Given the description of an element on the screen output the (x, y) to click on. 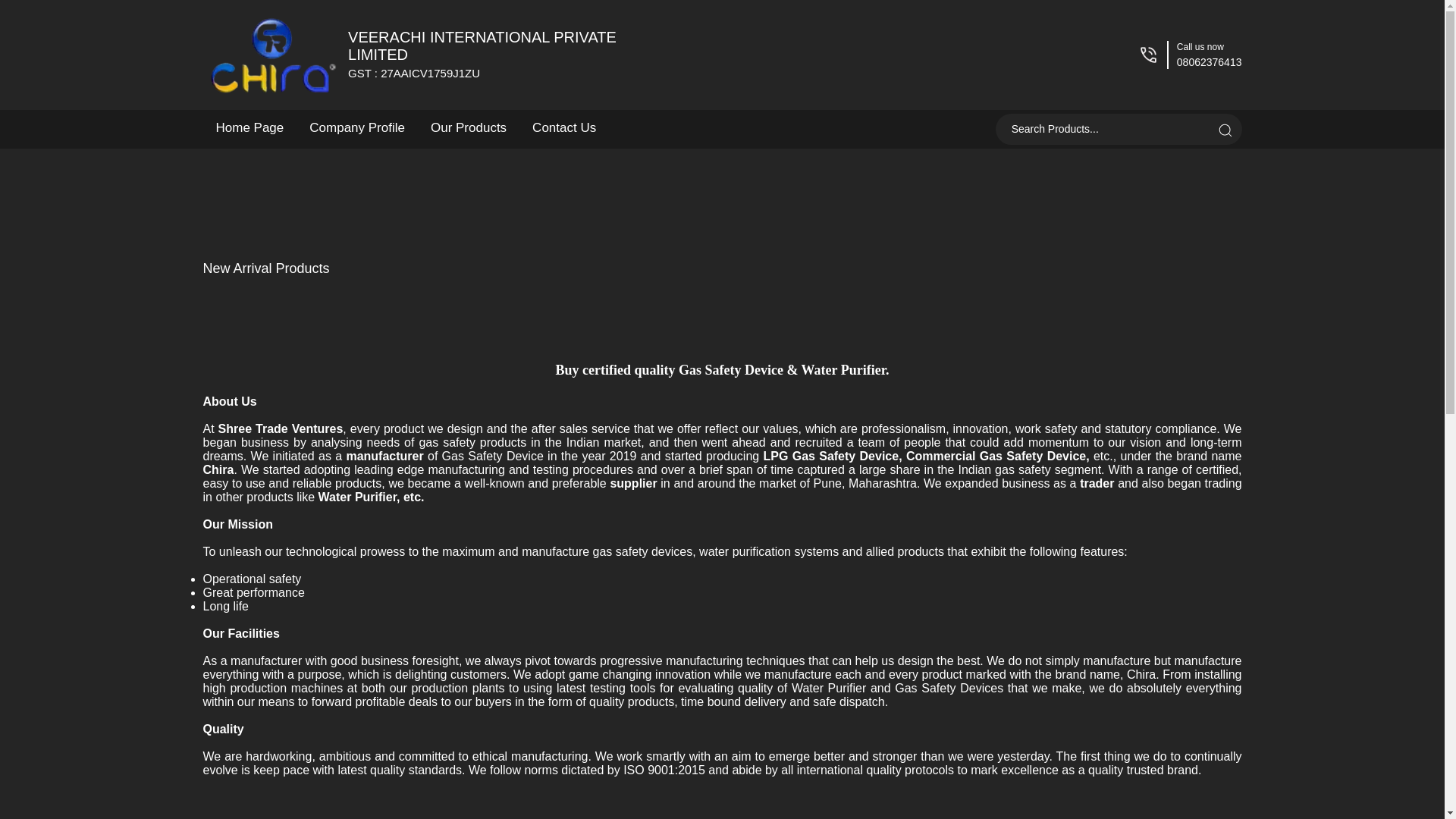
Search Products... (1103, 128)
Search Products... (1103, 128)
Home Page (250, 127)
submit (1224, 130)
Company Profile (481, 54)
Contact Us (357, 127)
Search (563, 127)
Our Products (1224, 130)
